Given the description of an element on the screen output the (x, y) to click on. 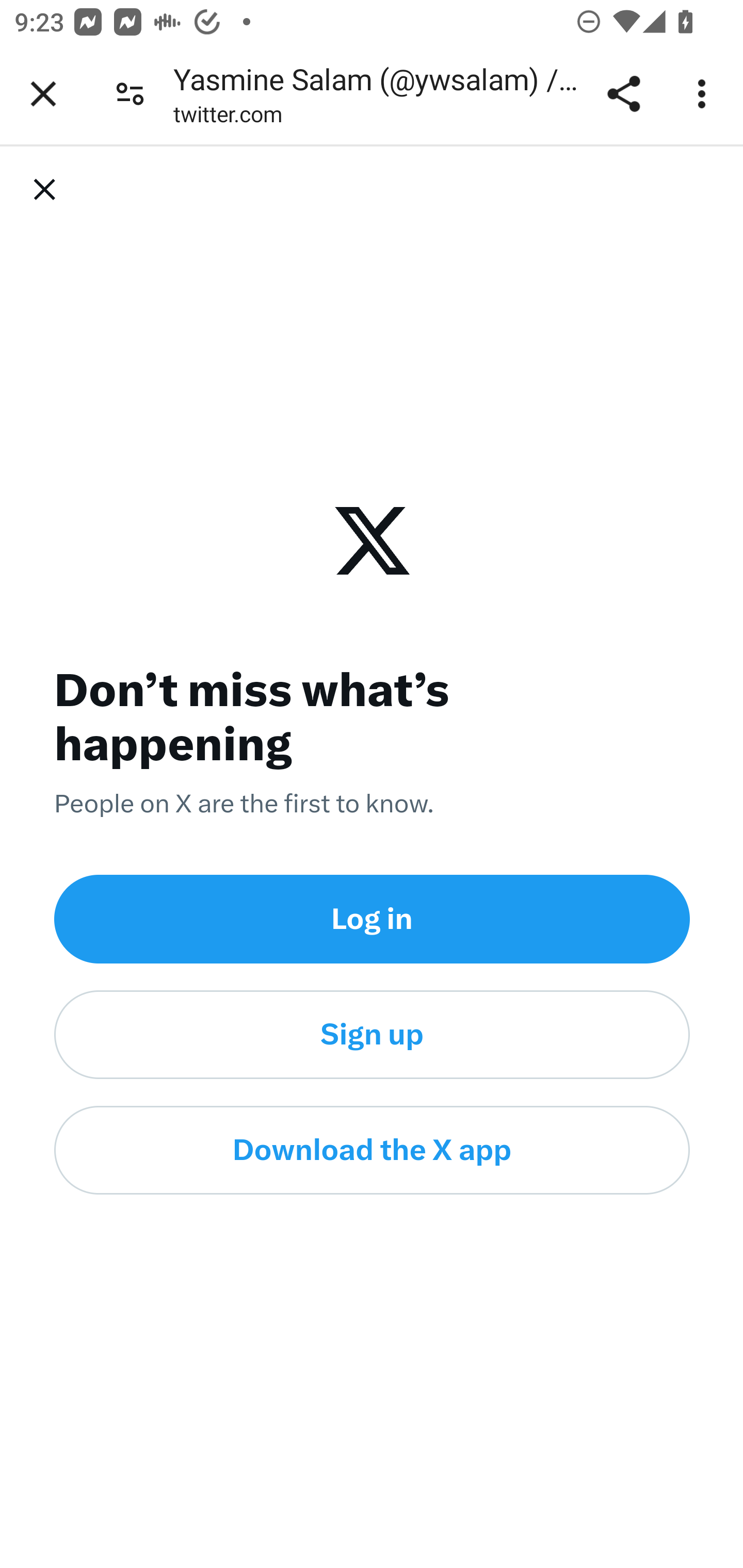
Close tab (43, 93)
Share (623, 93)
Customize and control Google Chrome (705, 93)
Connection is secure (129, 93)
twitter.com (228, 117)
